Given the description of an element on the screen output the (x, y) to click on. 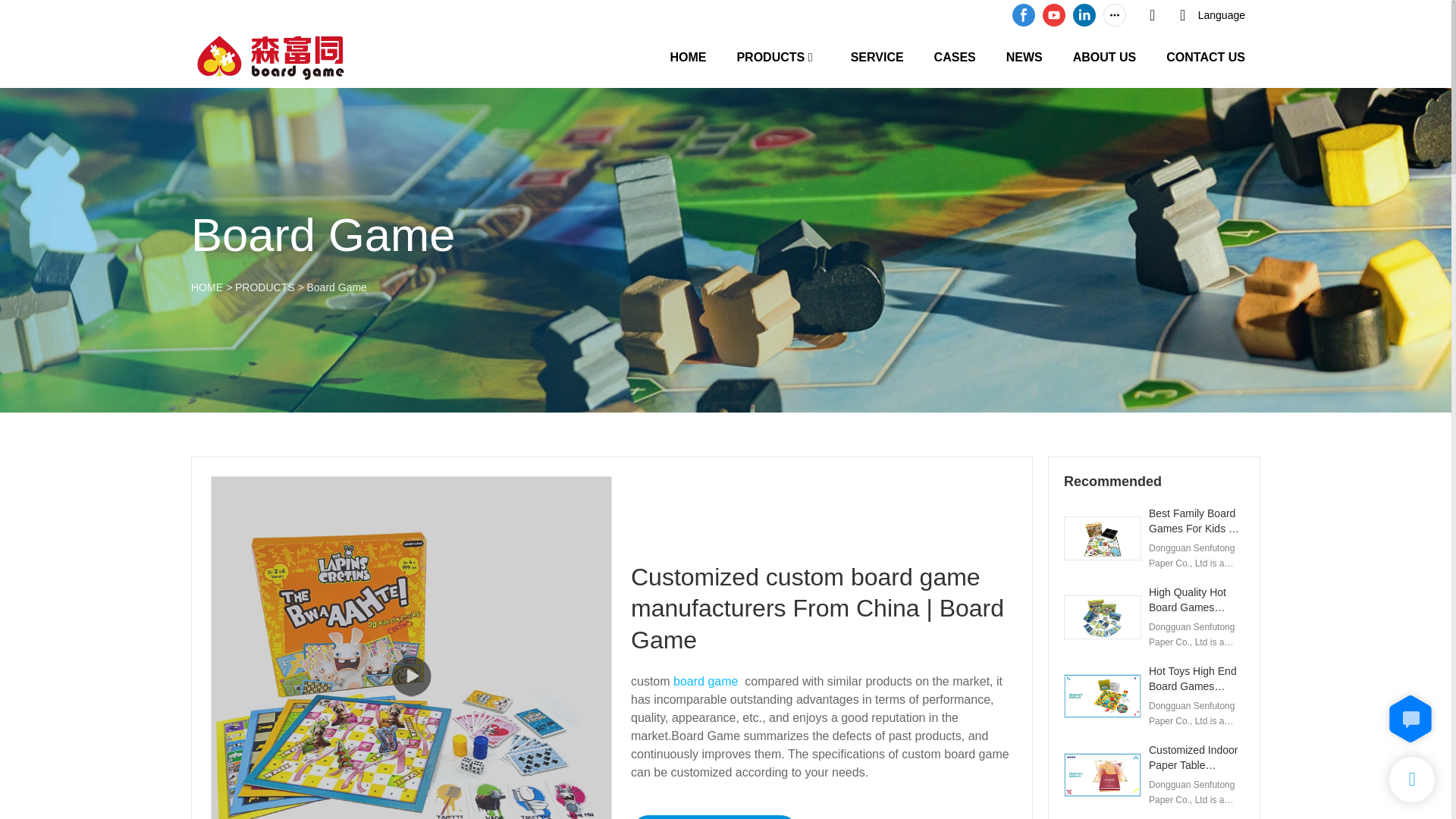
NEWS (1024, 56)
CASES (954, 56)
HOME (687, 56)
Board Game (335, 287)
board game (705, 680)
linkedin (1083, 15)
youtube (1053, 15)
